Given the description of an element on the screen output the (x, y) to click on. 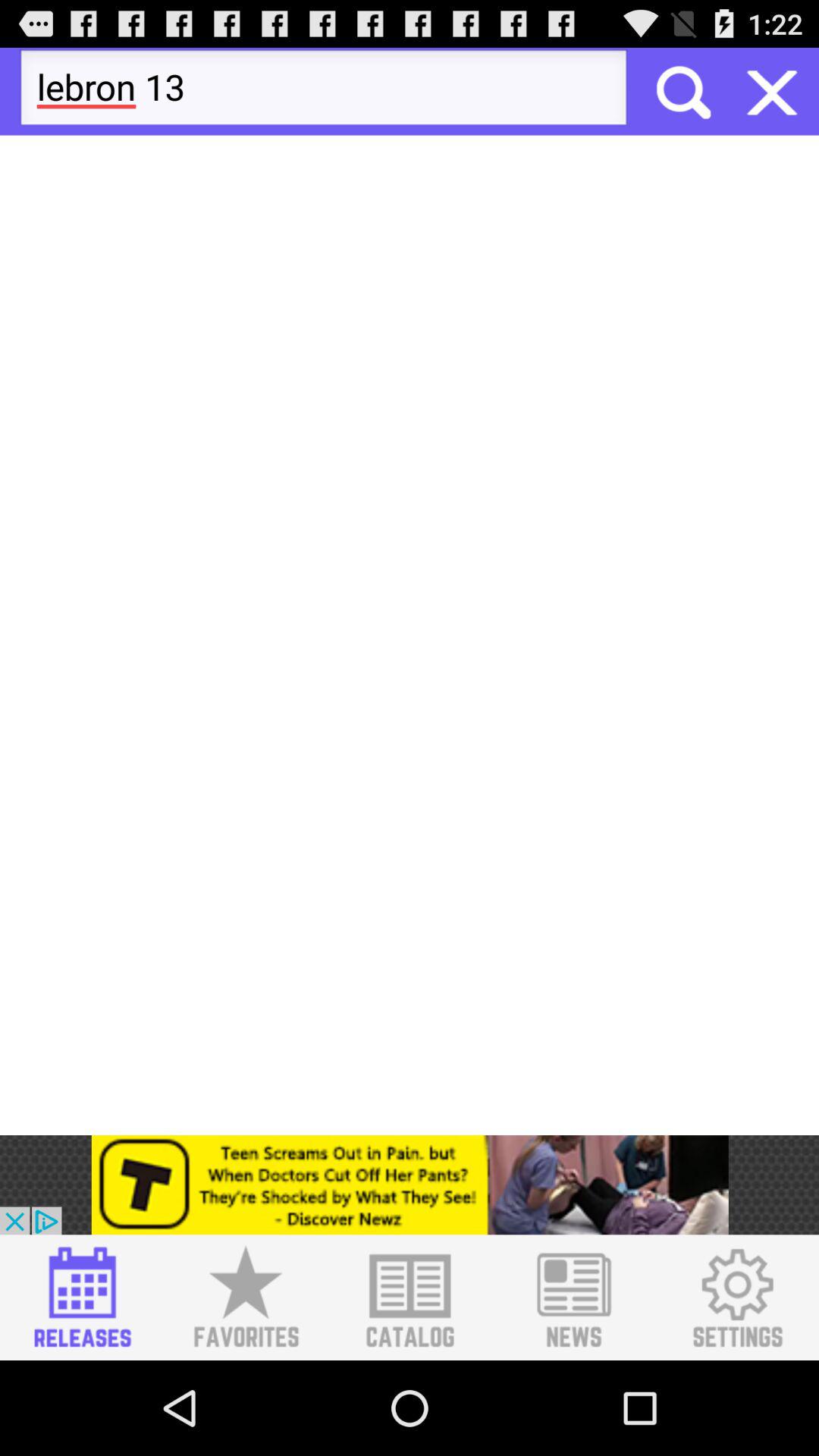
go to favorites screen (245, 1297)
